Given the description of an element on the screen output the (x, y) to click on. 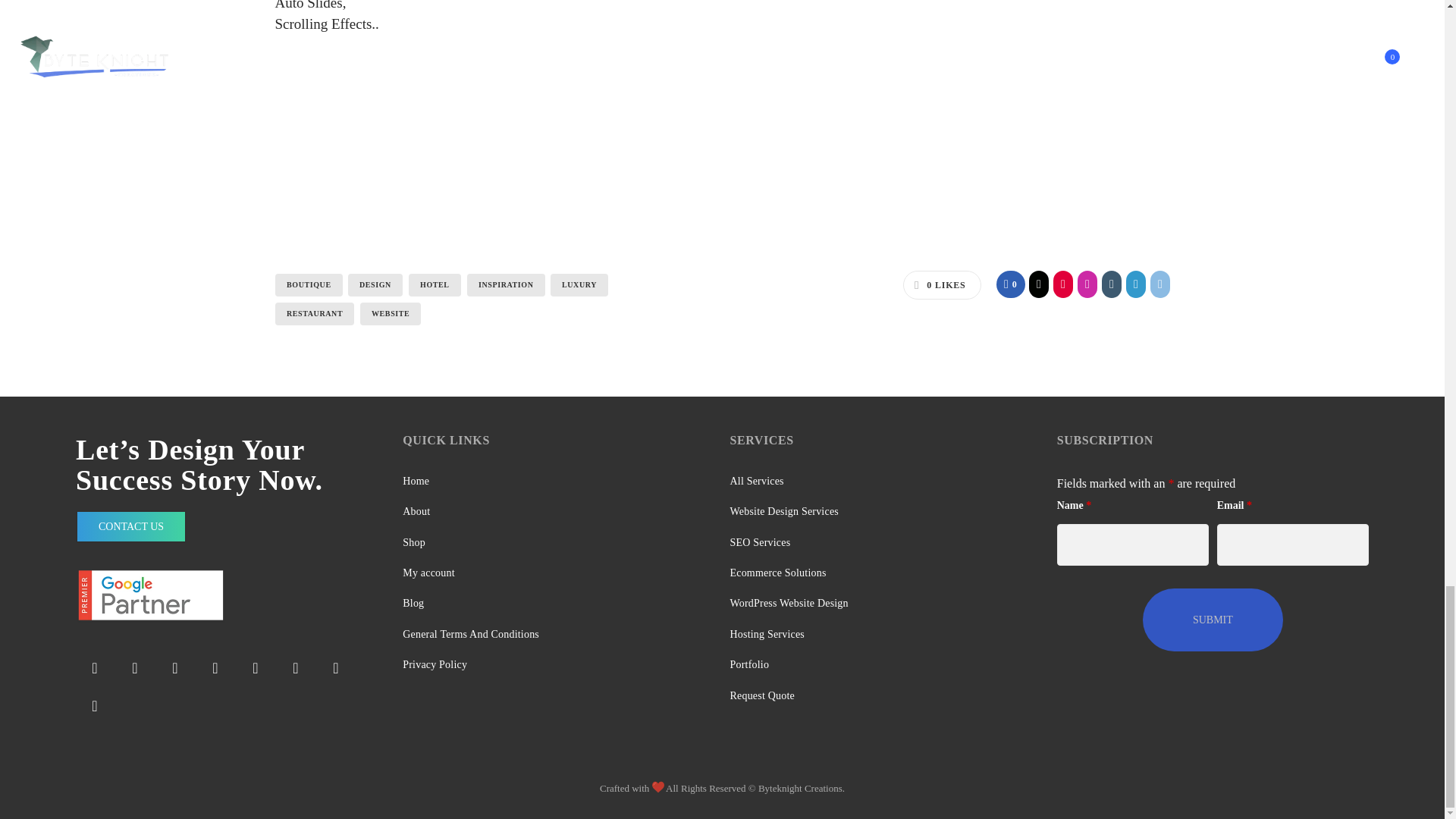
Submit (1212, 619)
